Given the description of an element on the screen output the (x, y) to click on. 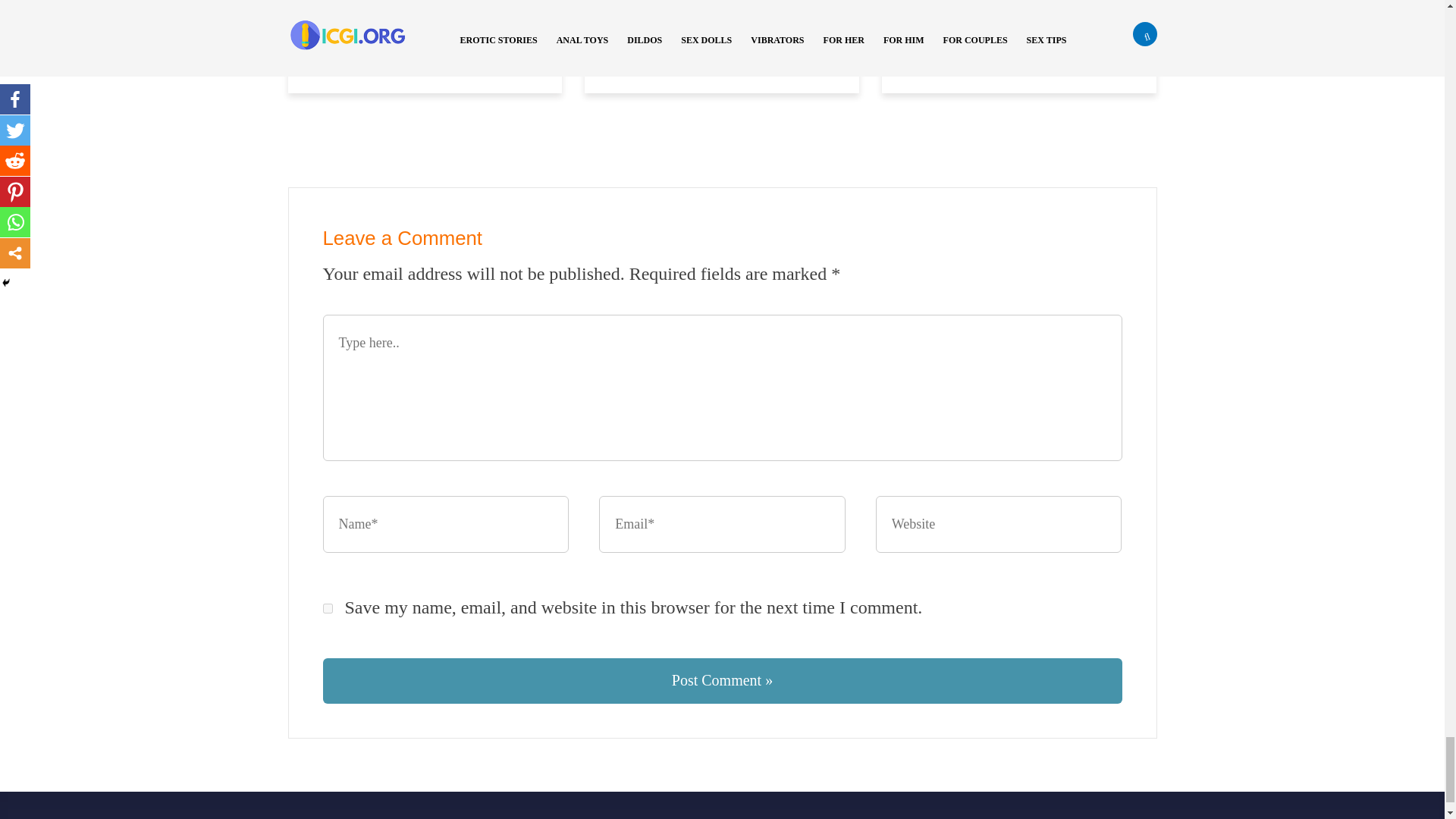
yes (328, 608)
